Given the description of an element on the screen output the (x, y) to click on. 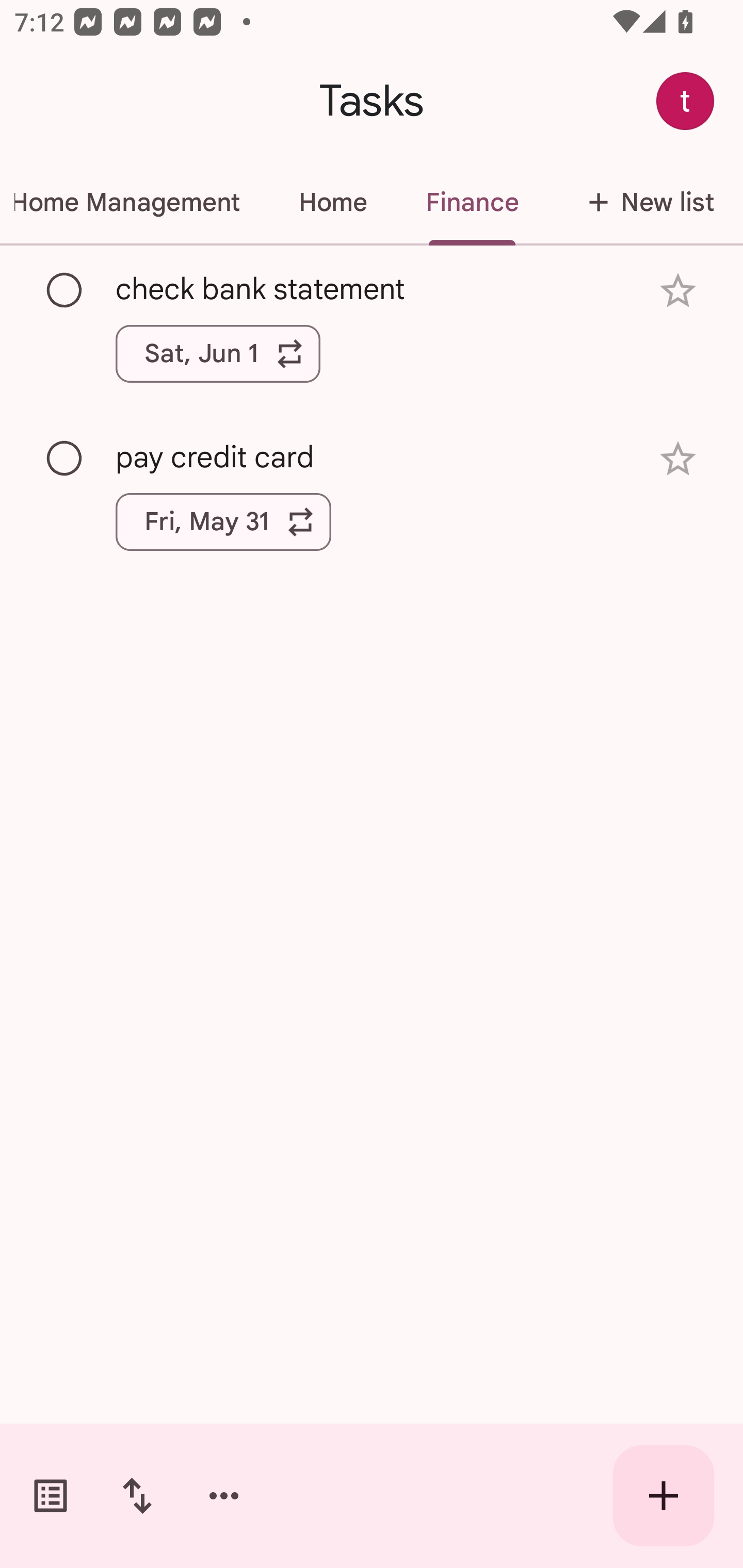
Home Management (134, 202)
Home (332, 202)
New list (645, 202)
Add star (677, 290)
Mark as complete (64, 290)
Sat, Jun 1 (217, 353)
Add star (677, 458)
Mark as complete (64, 459)
Fri, May 31 (223, 522)
Switch task lists (50, 1495)
Create new task (663, 1495)
Change sort order (136, 1495)
More options (223, 1495)
